Given the description of an element on the screen output the (x, y) to click on. 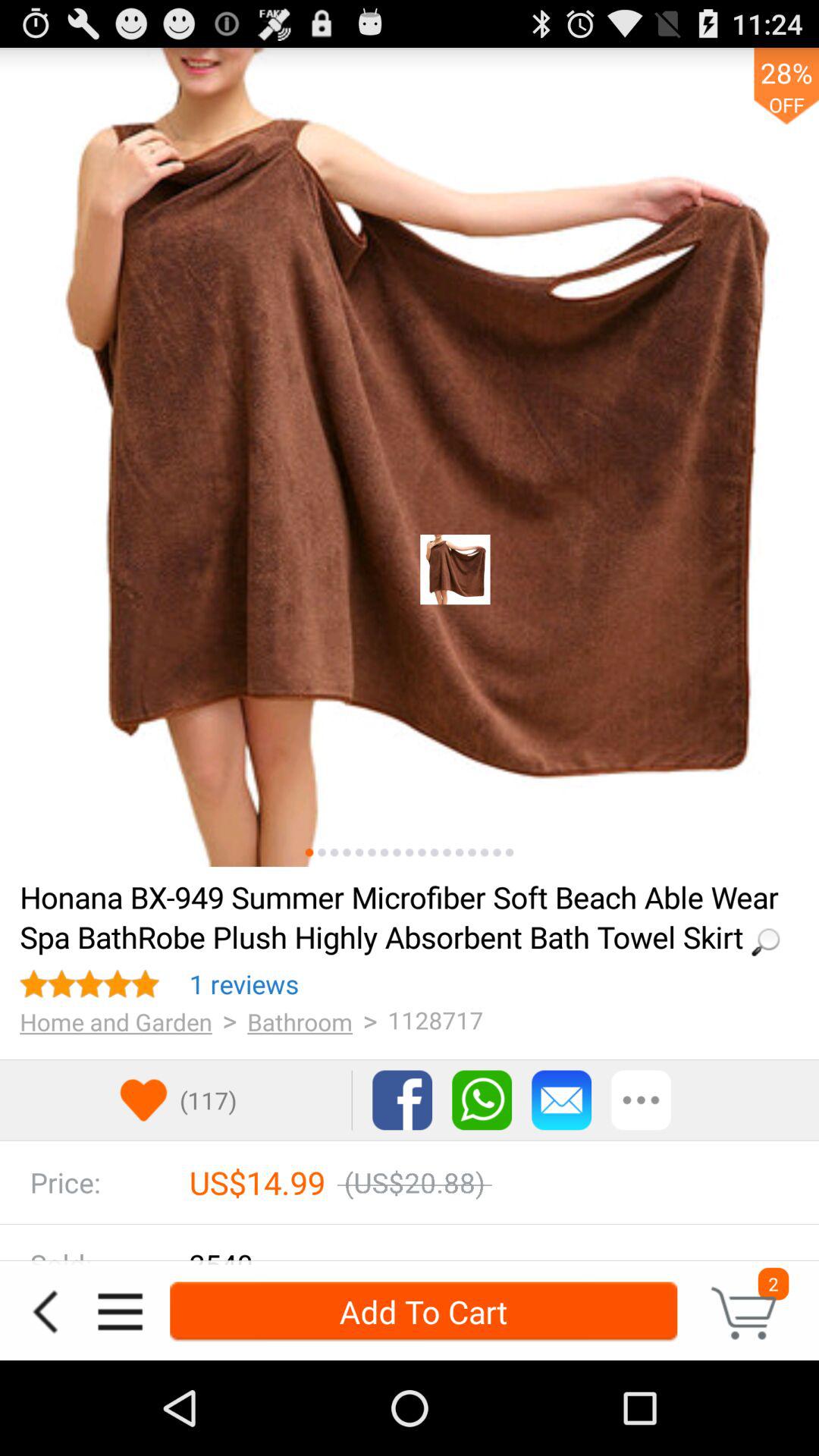
next image (396, 852)
